Given the description of an element on the screen output the (x, y) to click on. 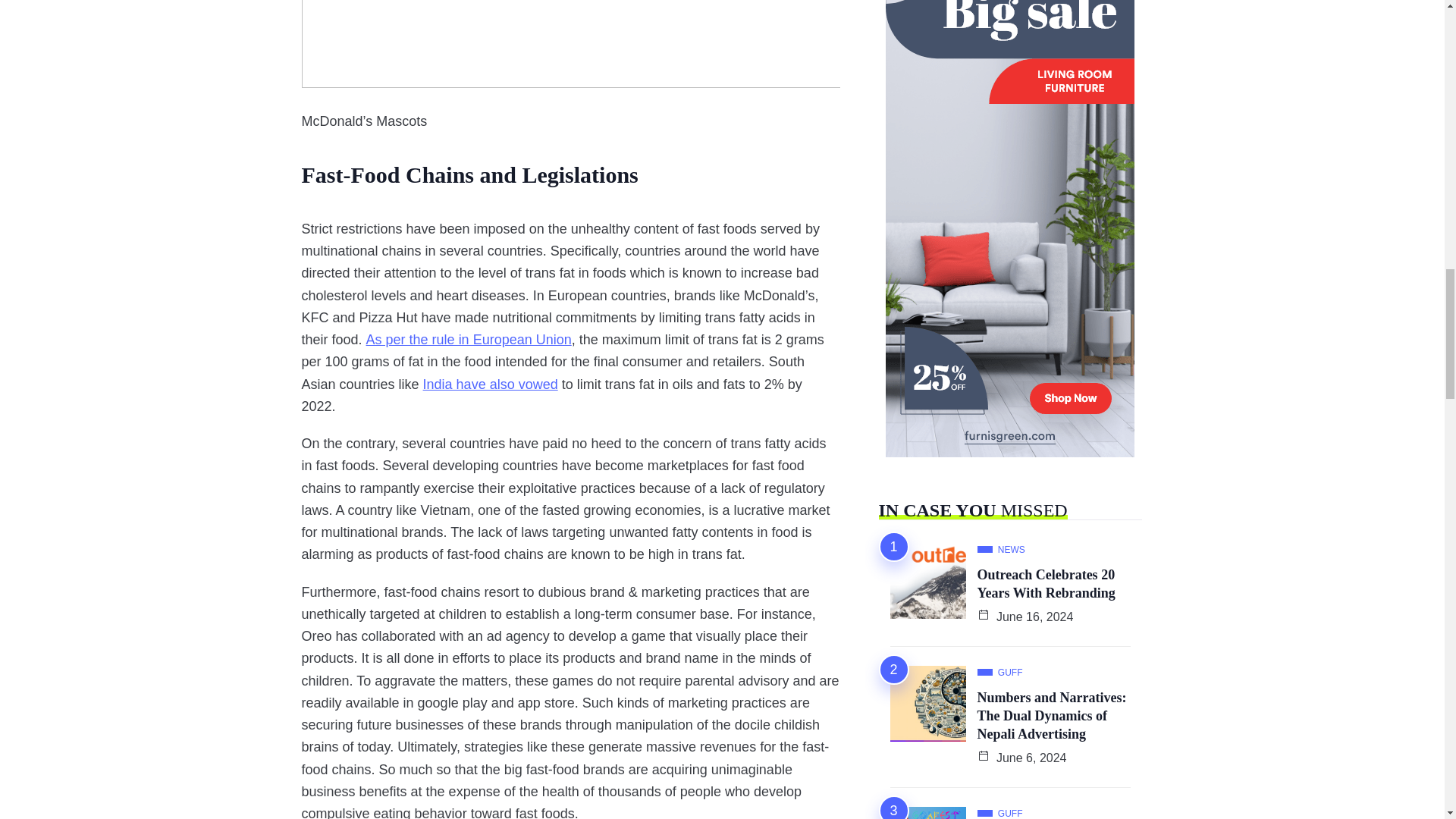
As per the rule in European Union (469, 340)
Outreach Celebrates 20 Years With Rebranding (1045, 584)
India have also vowed (490, 384)
